Given the description of an element on the screen output the (x, y) to click on. 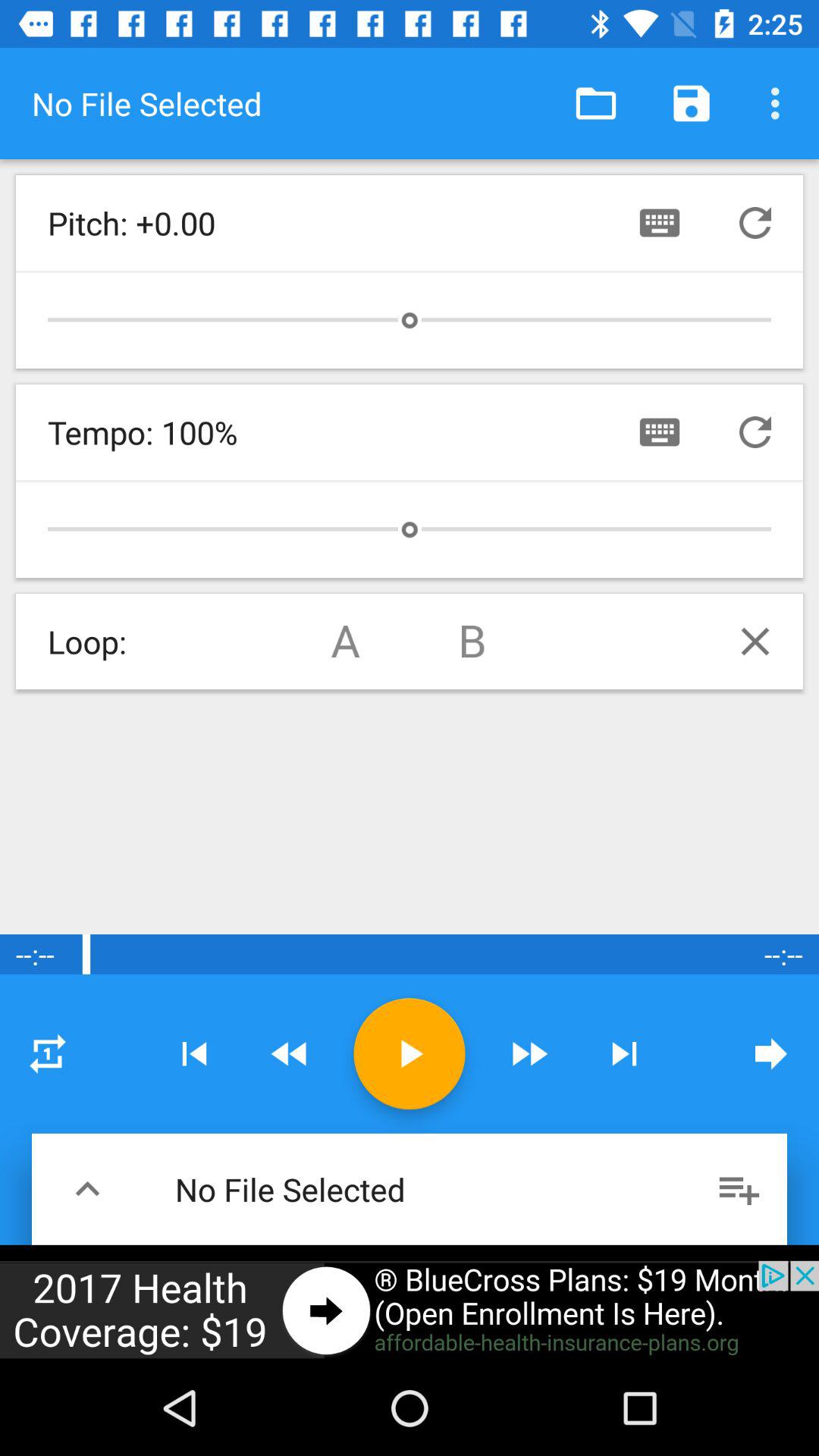
go to next page (771, 1053)
